Given the description of an element on the screen output the (x, y) to click on. 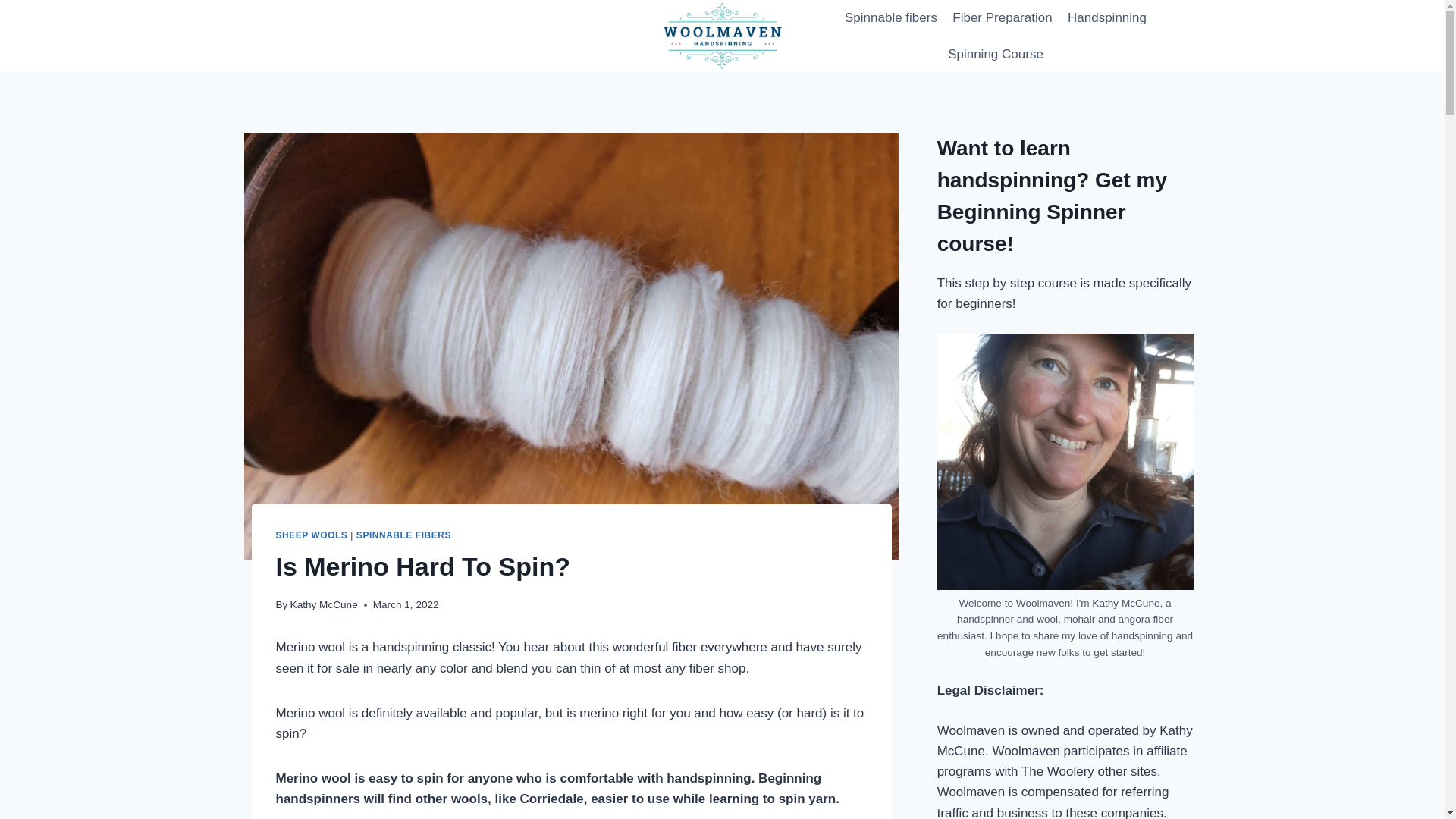
SHEEP WOOLS (311, 534)
SPINNABLE FIBERS (403, 534)
Spinnable fibers (890, 18)
Handspinning (1106, 18)
Kathy McCune (323, 604)
Spinning Course (995, 54)
Fiber Preparation (1001, 18)
